Given the description of an element on the screen output the (x, y) to click on. 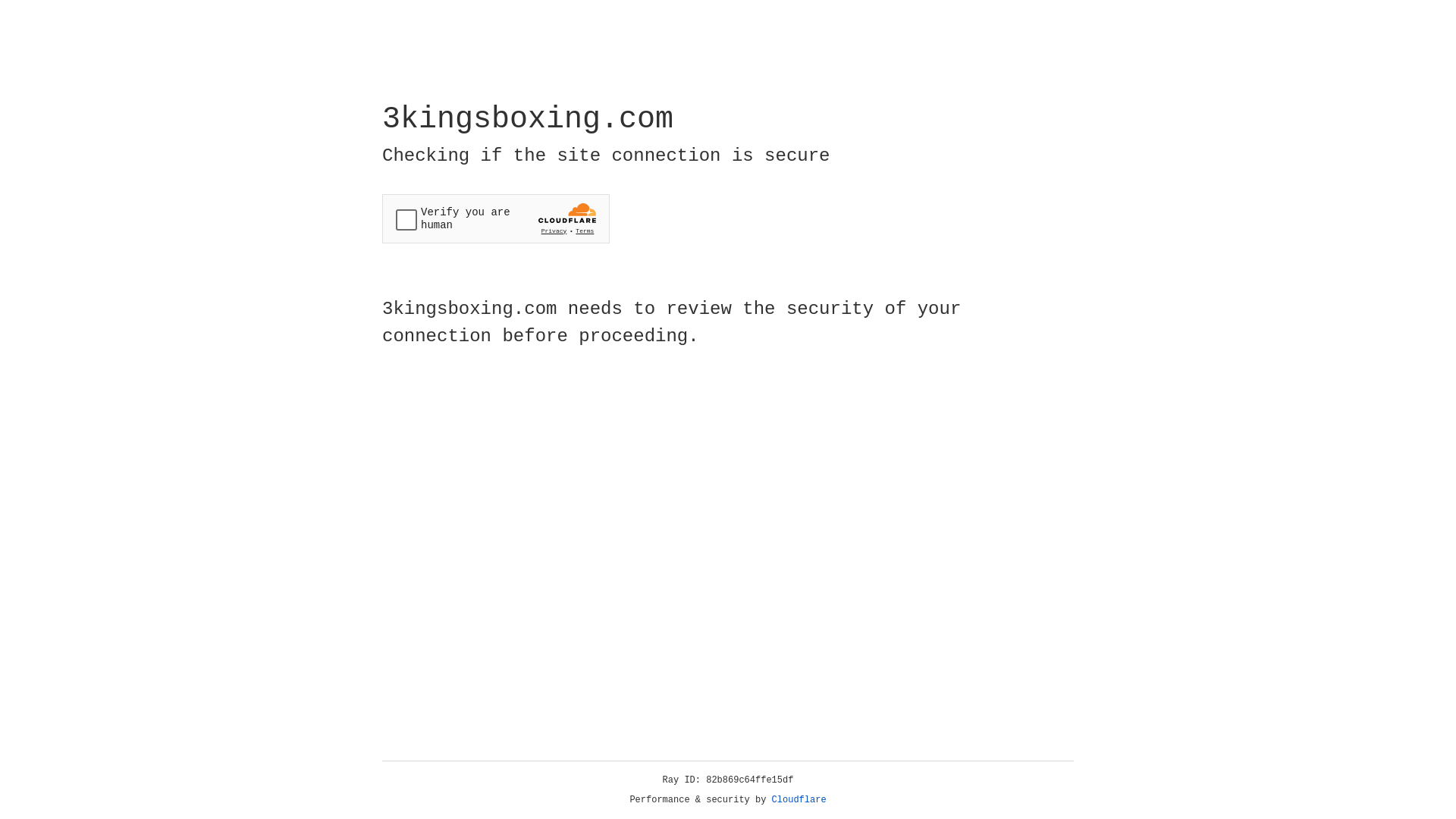
Cloudflare Element type: text (798, 799)
Widget containing a Cloudflare security challenge Element type: hover (495, 218)
